Given the description of an element on the screen output the (x, y) to click on. 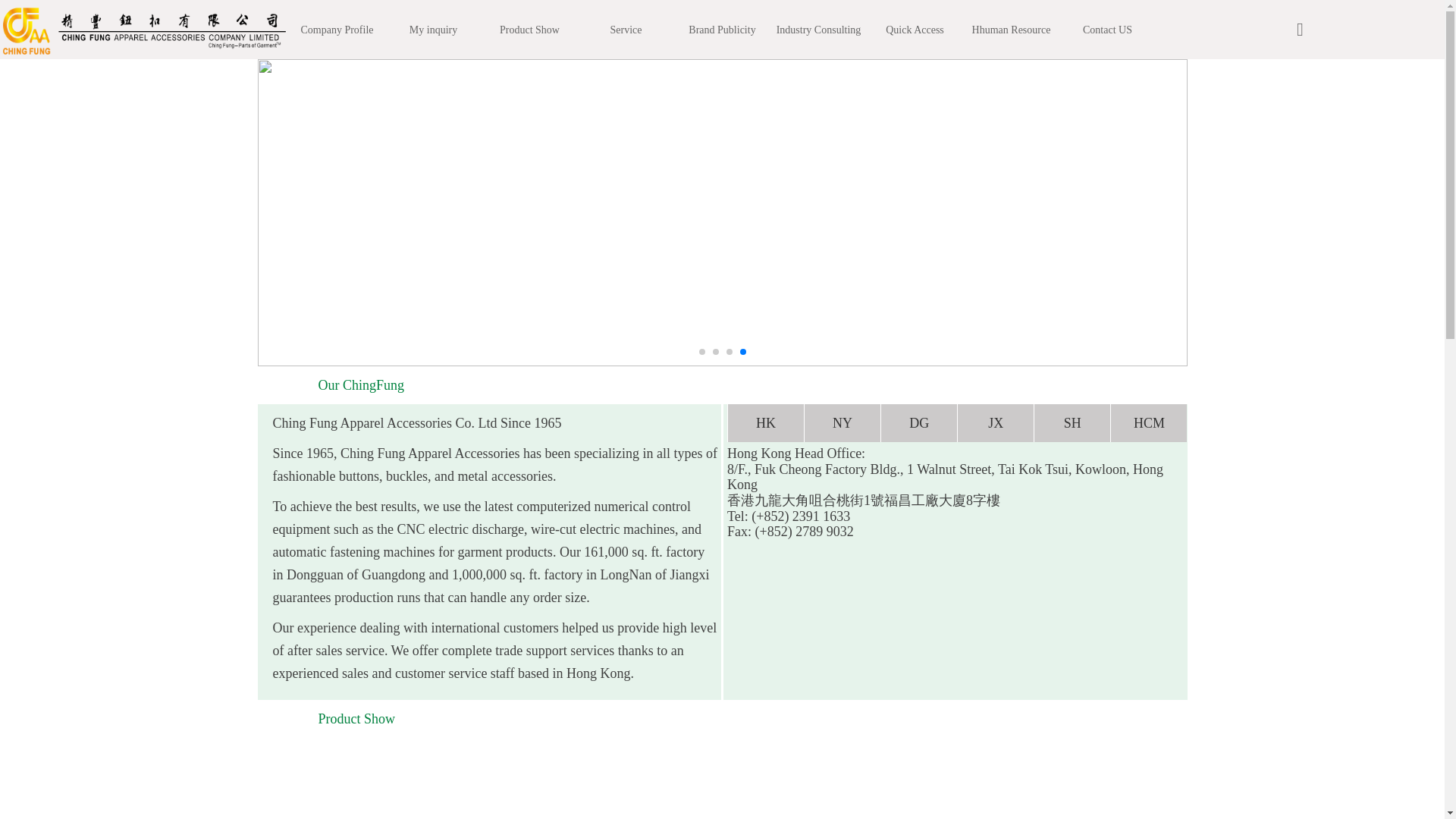
SH (1071, 423)
NY (841, 423)
Quick Access (914, 30)
My inquiry (433, 30)
Company Profile (335, 30)
Contact US (1107, 30)
Product Show (529, 30)
HCM (1147, 423)
Service (626, 30)
Hhuman Resource (1011, 30)
